Given the description of an element on the screen output the (x, y) to click on. 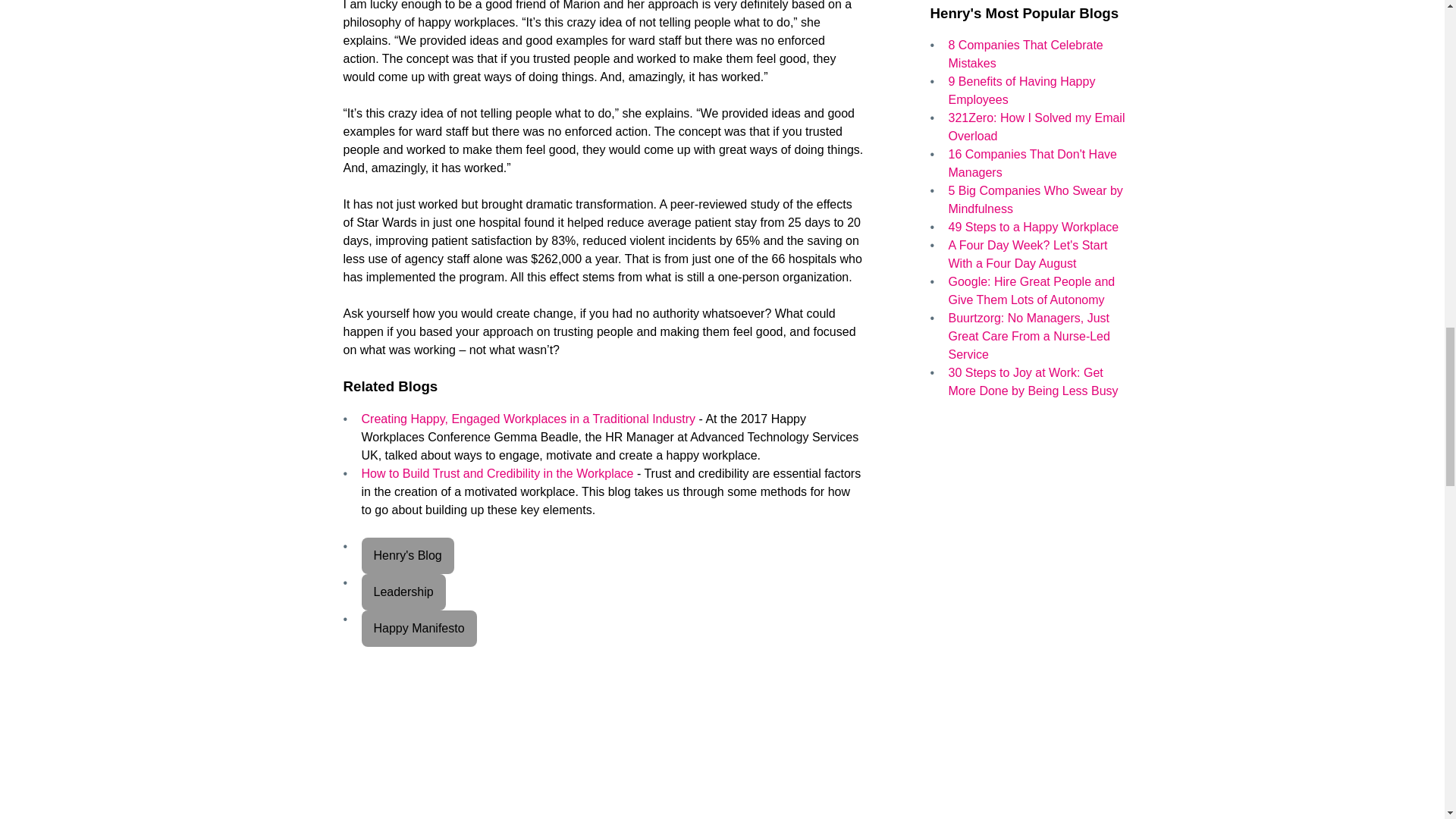
Google: hire great people and give them lots of autonomy (1031, 290)
Five Big Companies Who Swear By Mindfulness (1034, 199)
8 companies that celebrate mistakes (1024, 53)
How to Build Trust and Credibility in the Workplace (497, 472)
321zero: How I Solved my Email Overload (1035, 126)
30 Steps to Joy at Work: Get More Done by Being Less Busy (1032, 381)
Creating Happy, Engaged Workplaces in a Traditional Industry (528, 418)
9 benefits of having happy employees (1020, 90)
49 Steps to a Happy Workplace (1032, 226)
